Given the description of an element on the screen output the (x, y) to click on. 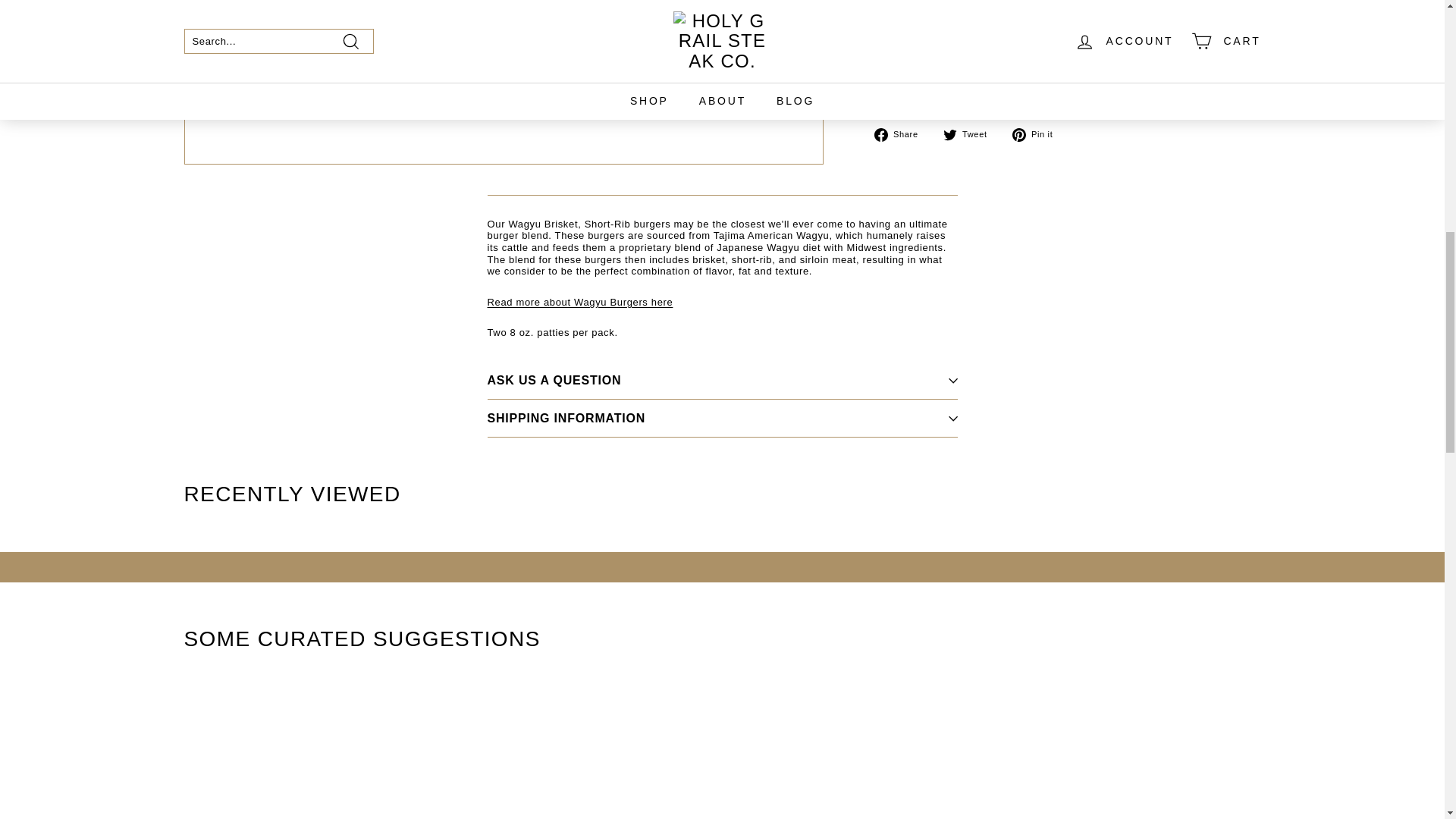
How to Make Wagyu Burgers at Home (579, 301)
Tweet on Twitter (970, 134)
Share on Facebook (902, 134)
Pin on Pinterest (1037, 134)
